Given the description of an element on the screen output the (x, y) to click on. 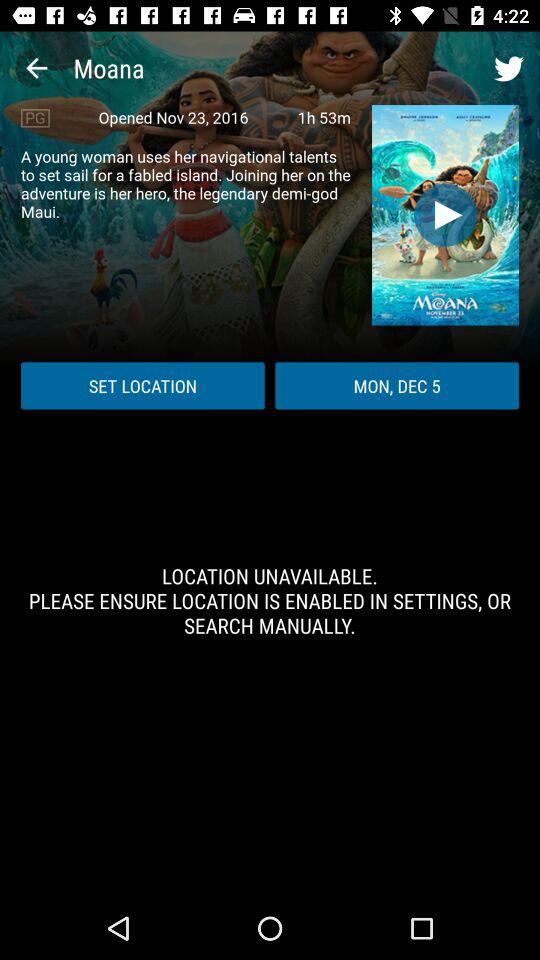
tap the a young woman icon (185, 183)
